Given the description of an element on the screen output the (x, y) to click on. 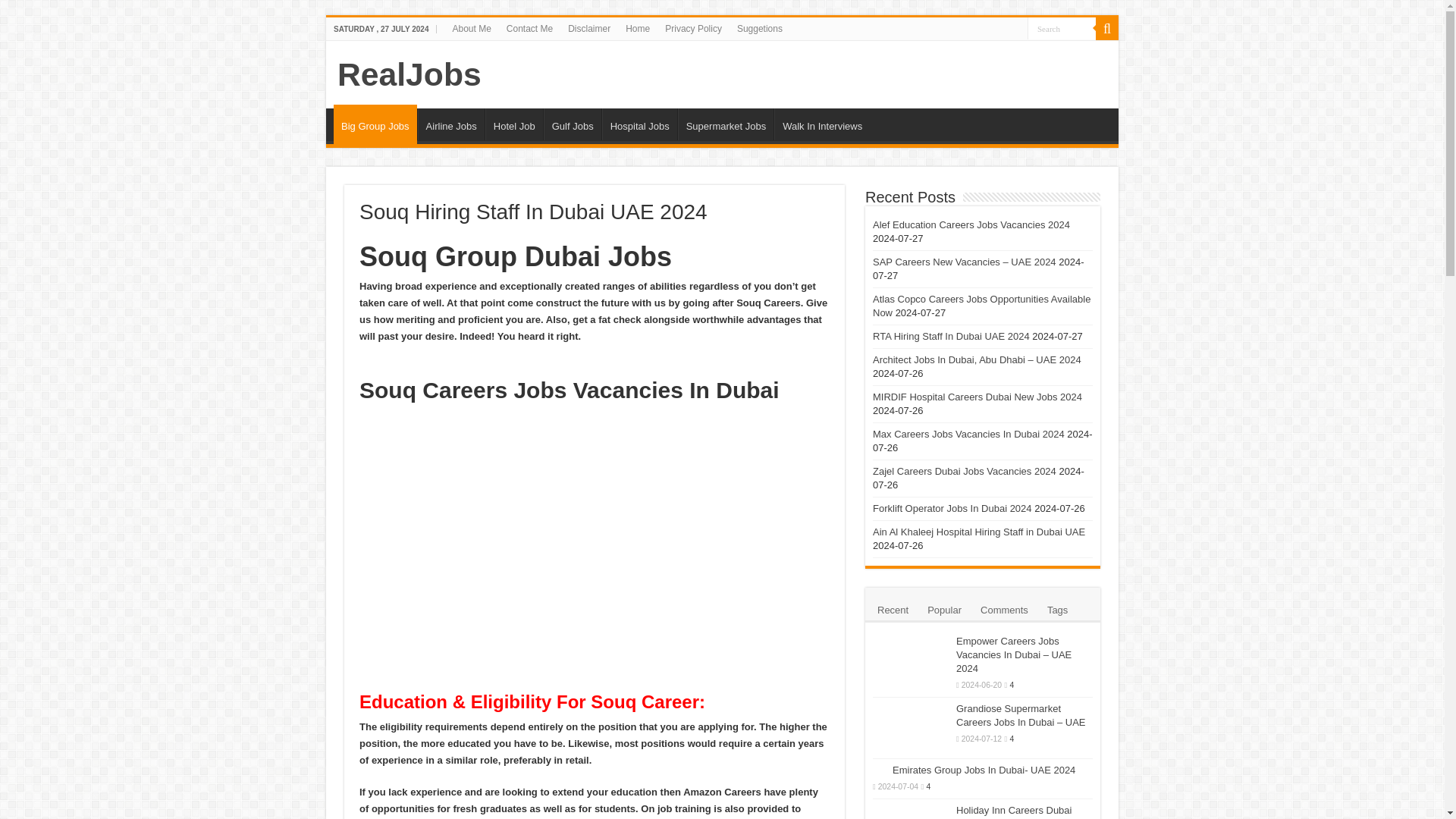
About Me (470, 28)
Airline Jobs (450, 124)
Alef Education Careers Jobs Vacancies 2024 (971, 224)
Gulf Jobs (572, 124)
Supermarket Jobs (726, 124)
Privacy Policy (693, 28)
Big Group Jobs (374, 124)
Contact Me (529, 28)
Search (1107, 28)
Disclaimer (588, 28)
Search (1061, 28)
Hospital Jobs (639, 124)
Suggetions (759, 28)
Search (1061, 28)
RealJobs (409, 74)
